Given the description of an element on the screen output the (x, y) to click on. 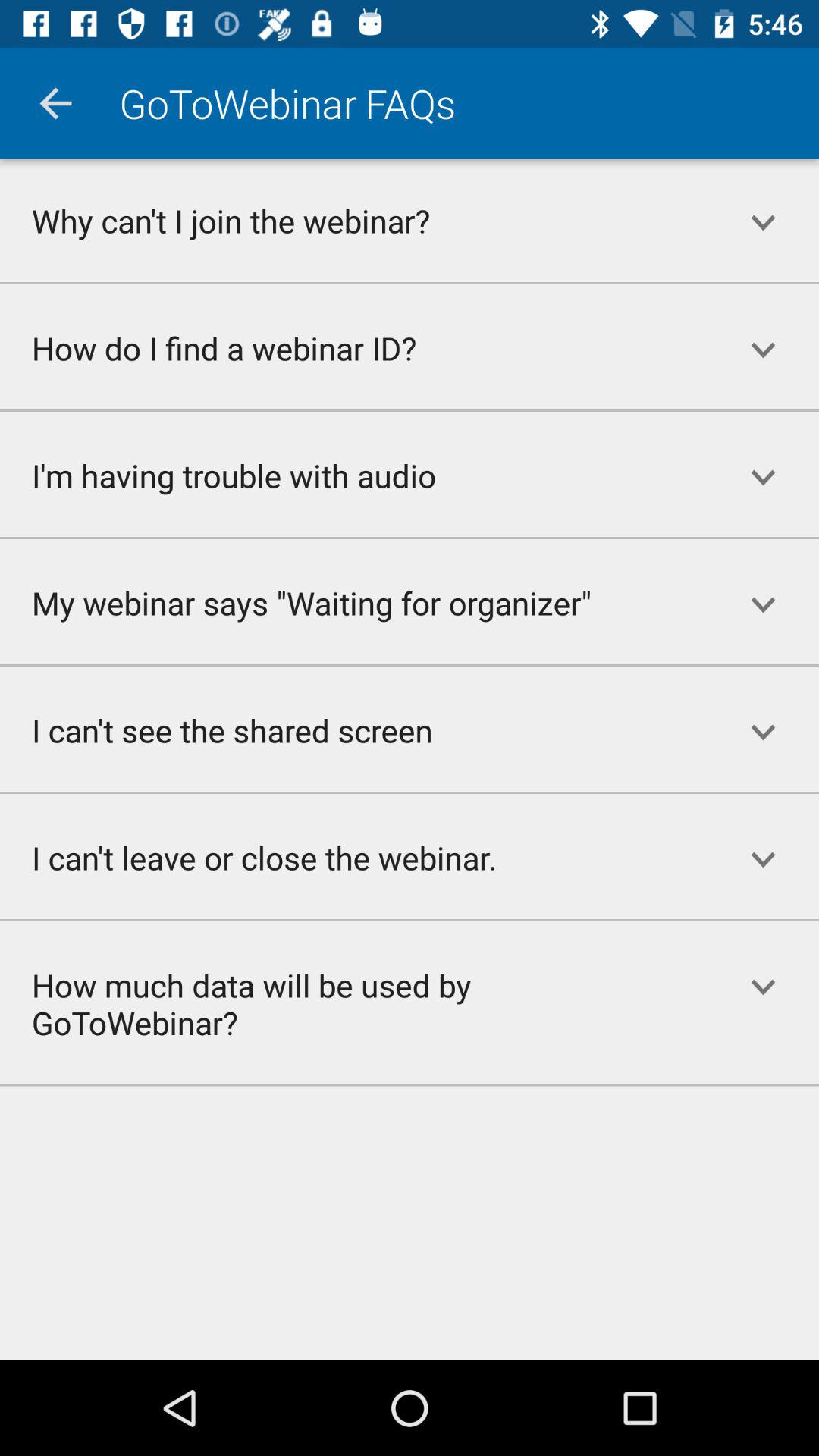
choose the icon above why can t (55, 103)
